Given the description of an element on the screen output the (x, y) to click on. 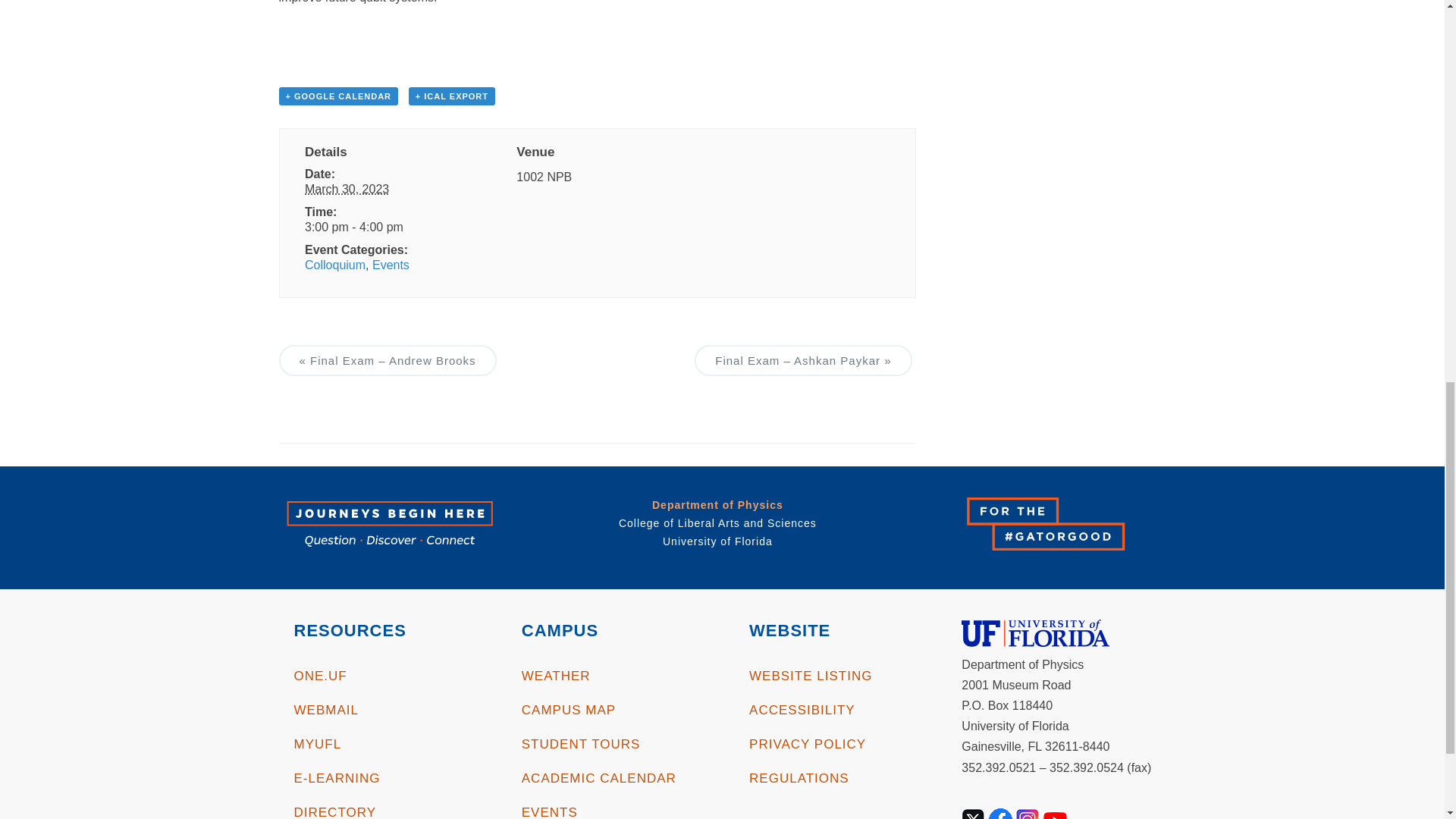
2023-03-30 (384, 227)
Add to Google Calendar (338, 95)
Download .ics file (452, 95)
2023-03-30 (346, 188)
